Given the description of an element on the screen output the (x, y) to click on. 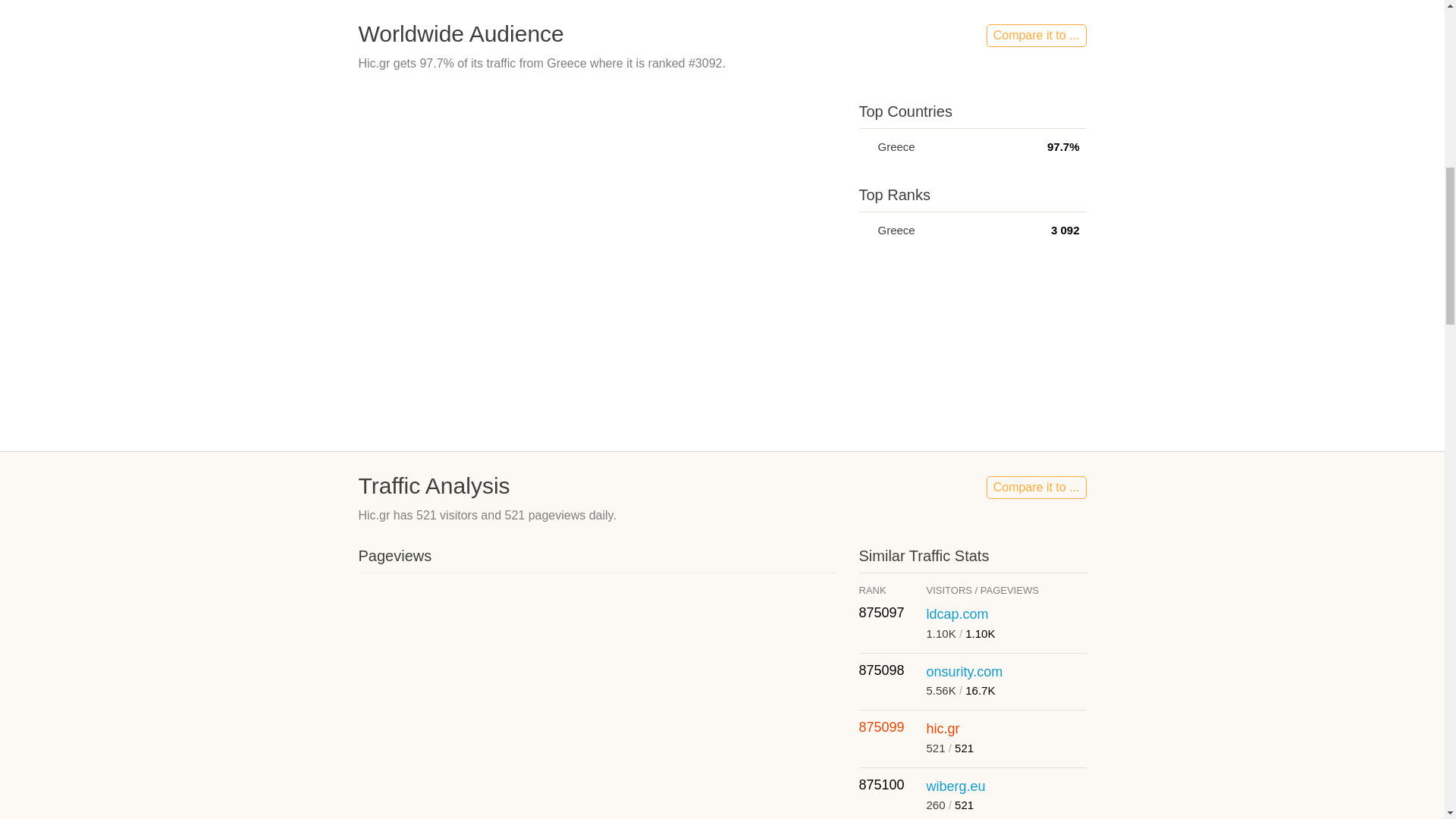
Greece (864, 230)
Compare it to ... (1036, 35)
Compare it to ... (1036, 486)
hic.gr (942, 728)
onsurity.com (964, 671)
wiberg.eu (955, 785)
ldcap.com (957, 613)
Greece (864, 146)
